Given the description of an element on the screen output the (x, y) to click on. 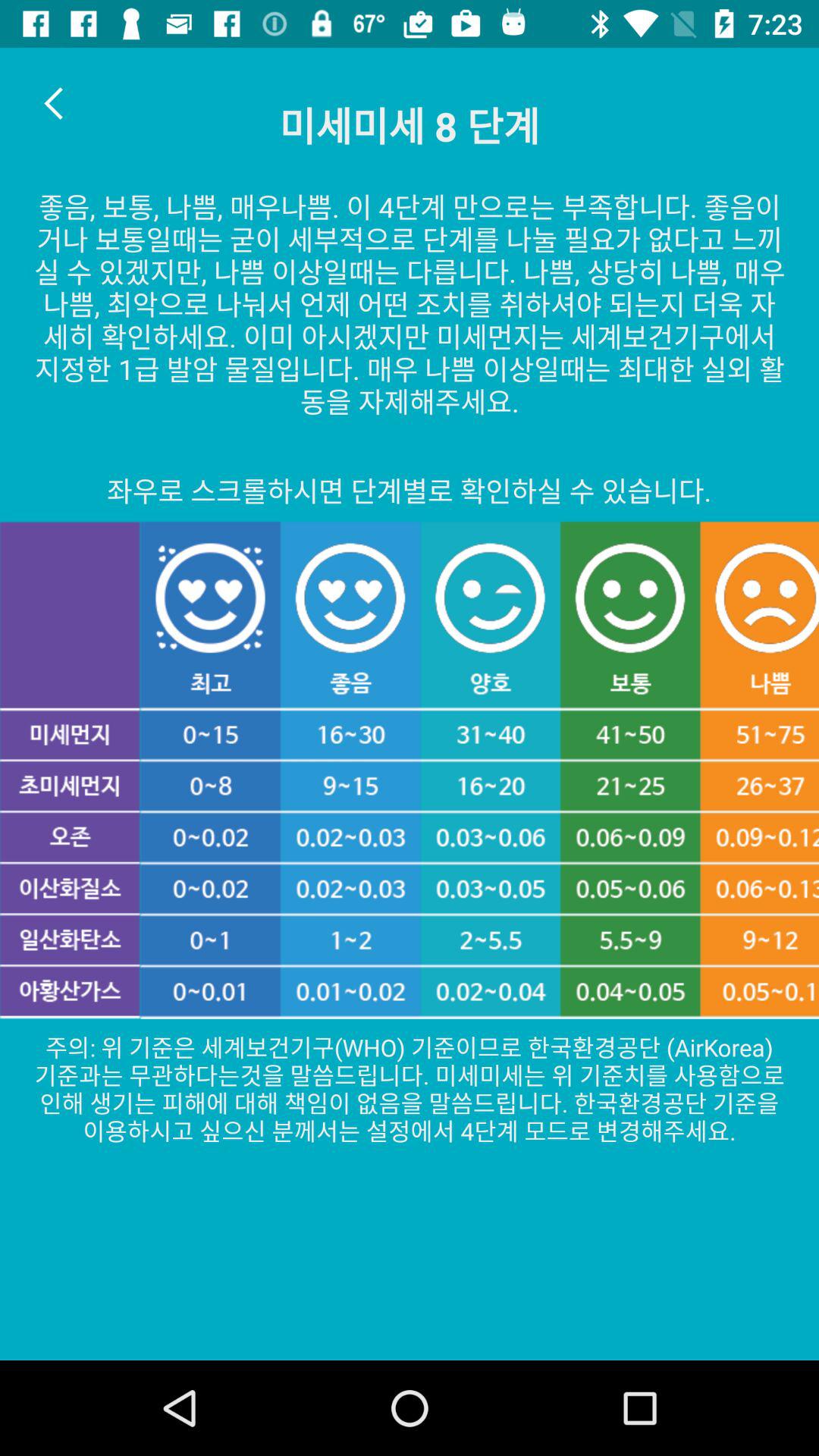
turn off item at the top left corner (55, 103)
